Given the description of an element on the screen output the (x, y) to click on. 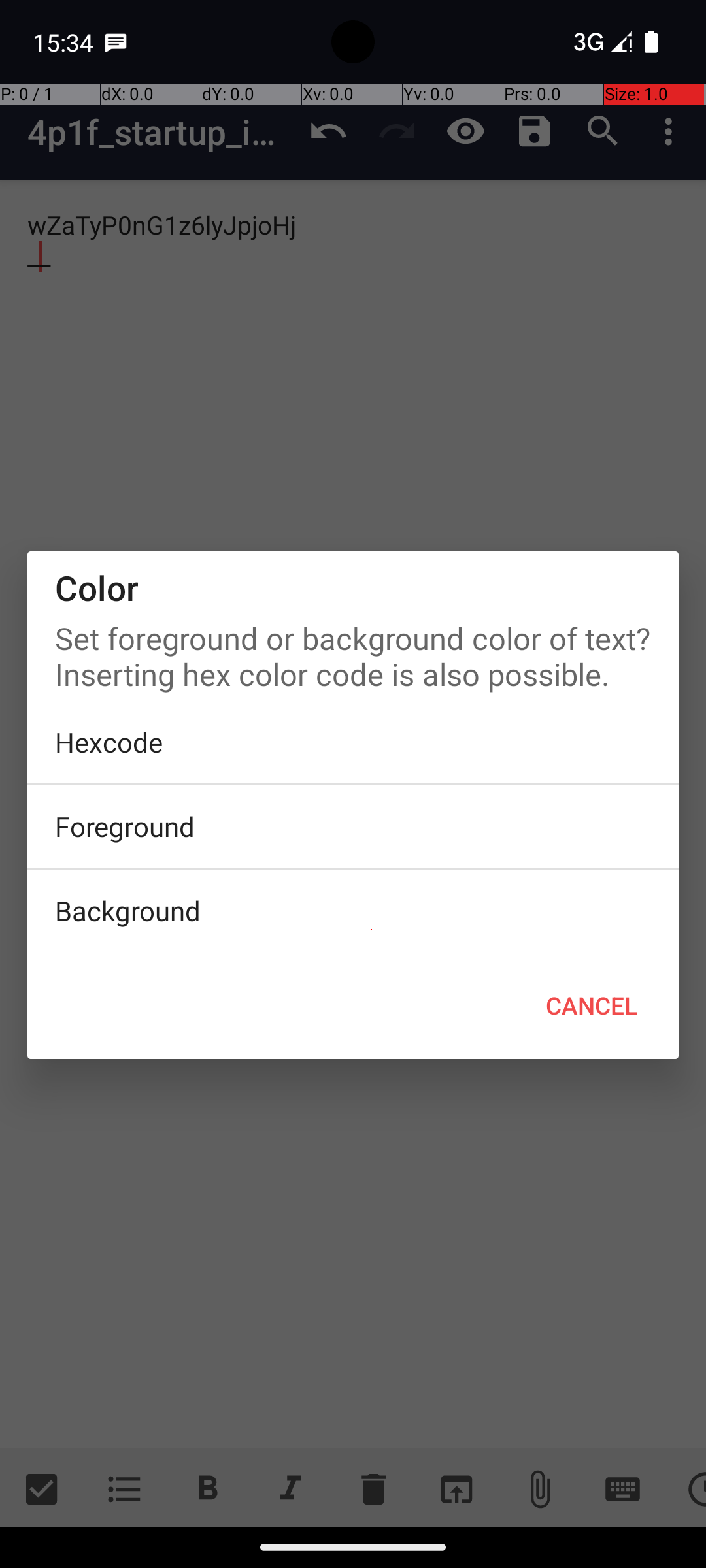
Color Element type: android.widget.TextView (352, 587)
Set foreground or background color of text? Inserting hex color code is also possible. Element type: android.widget.TextView (352, 652)
Hexcode Element type: android.widget.TextView (352, 742)
Foreground Element type: android.widget.TextView (352, 826)
Background Element type: android.widget.TextView (352, 910)
